Given the description of an element on the screen output the (x, y) to click on. 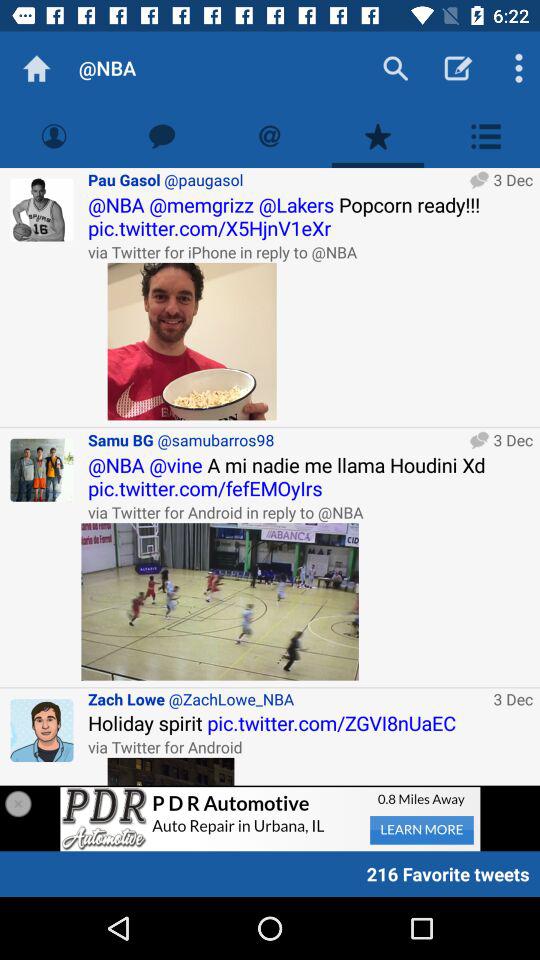
go to profile (41, 209)
